Given the description of an element on the screen output the (x, y) to click on. 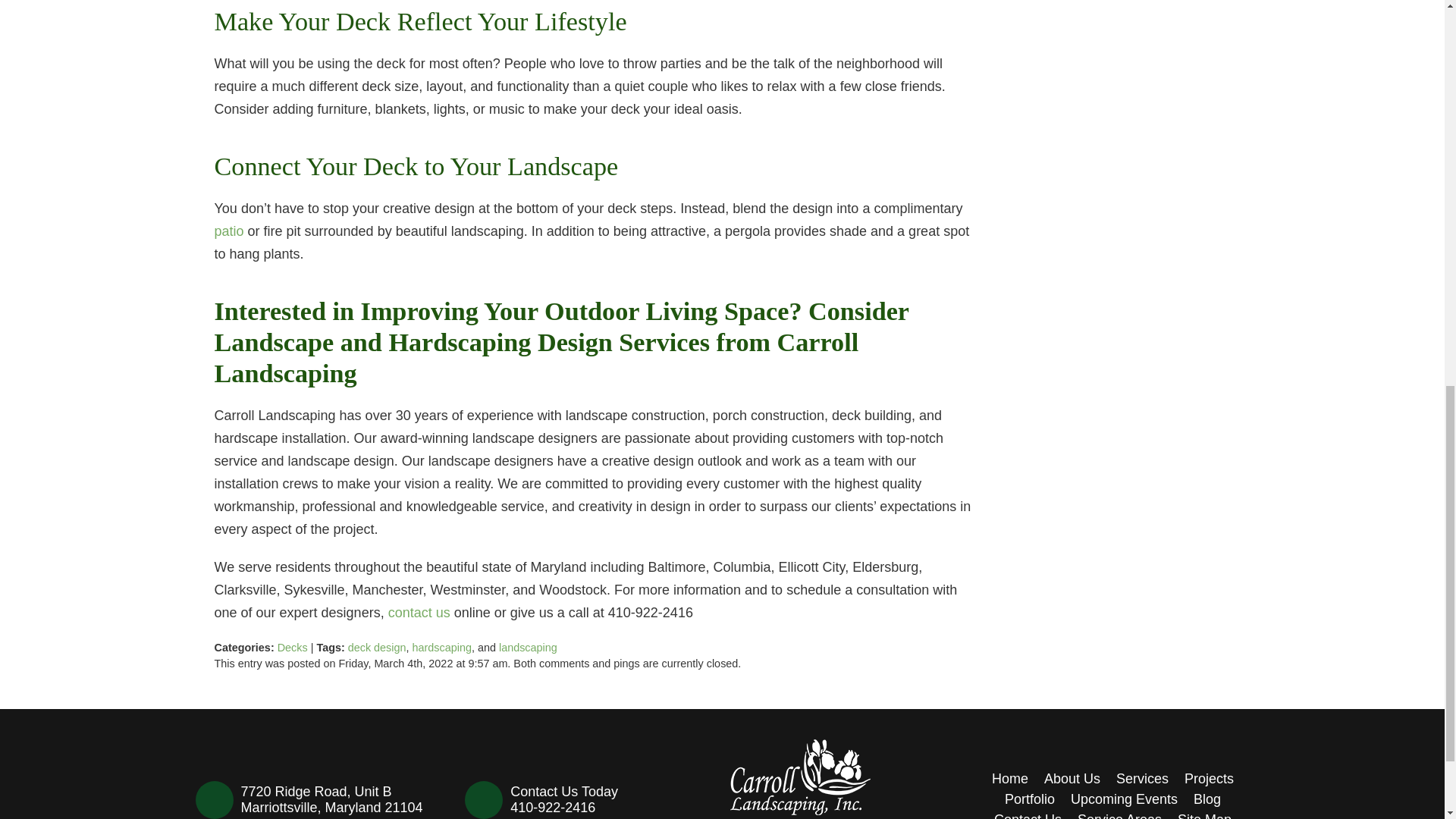
Carroll Landscaping (800, 776)
